Given the description of an element on the screen output the (x, y) to click on. 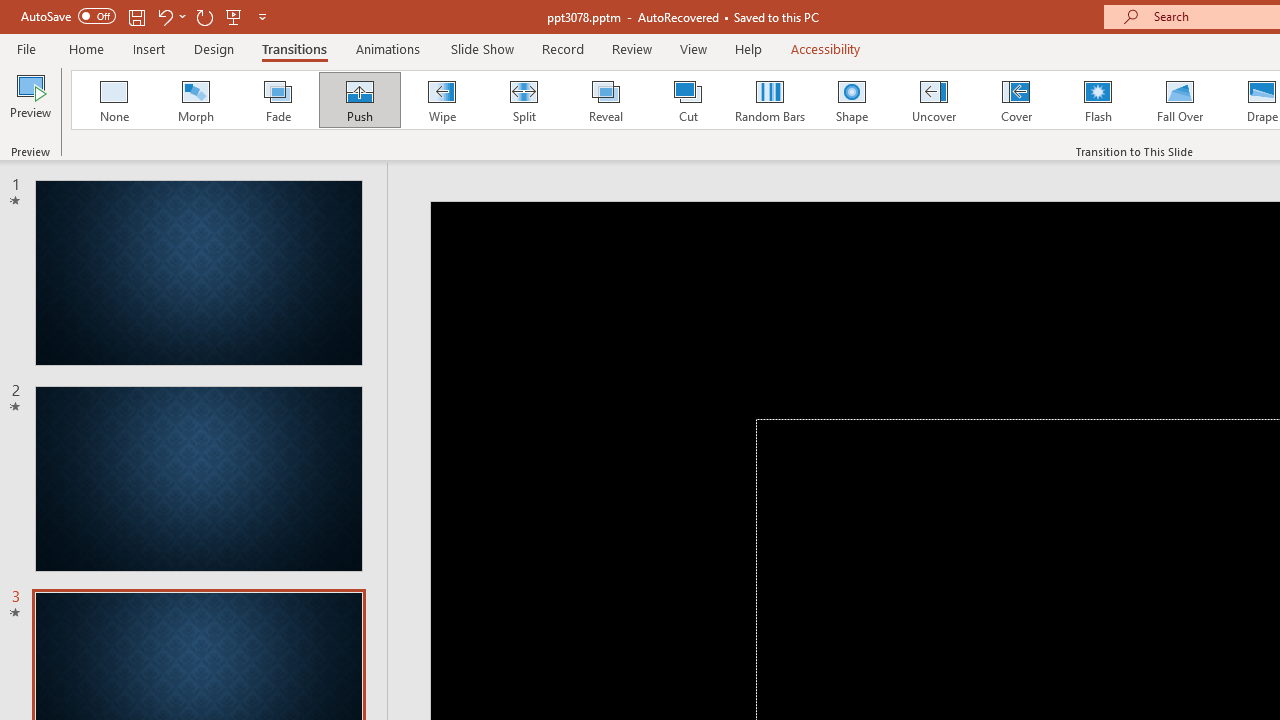
Cover (1016, 100)
Random Bars (770, 100)
Fall Over (1180, 100)
Fade (277, 100)
None (113, 100)
Uncover (934, 100)
